Given the description of an element on the screen output the (x, y) to click on. 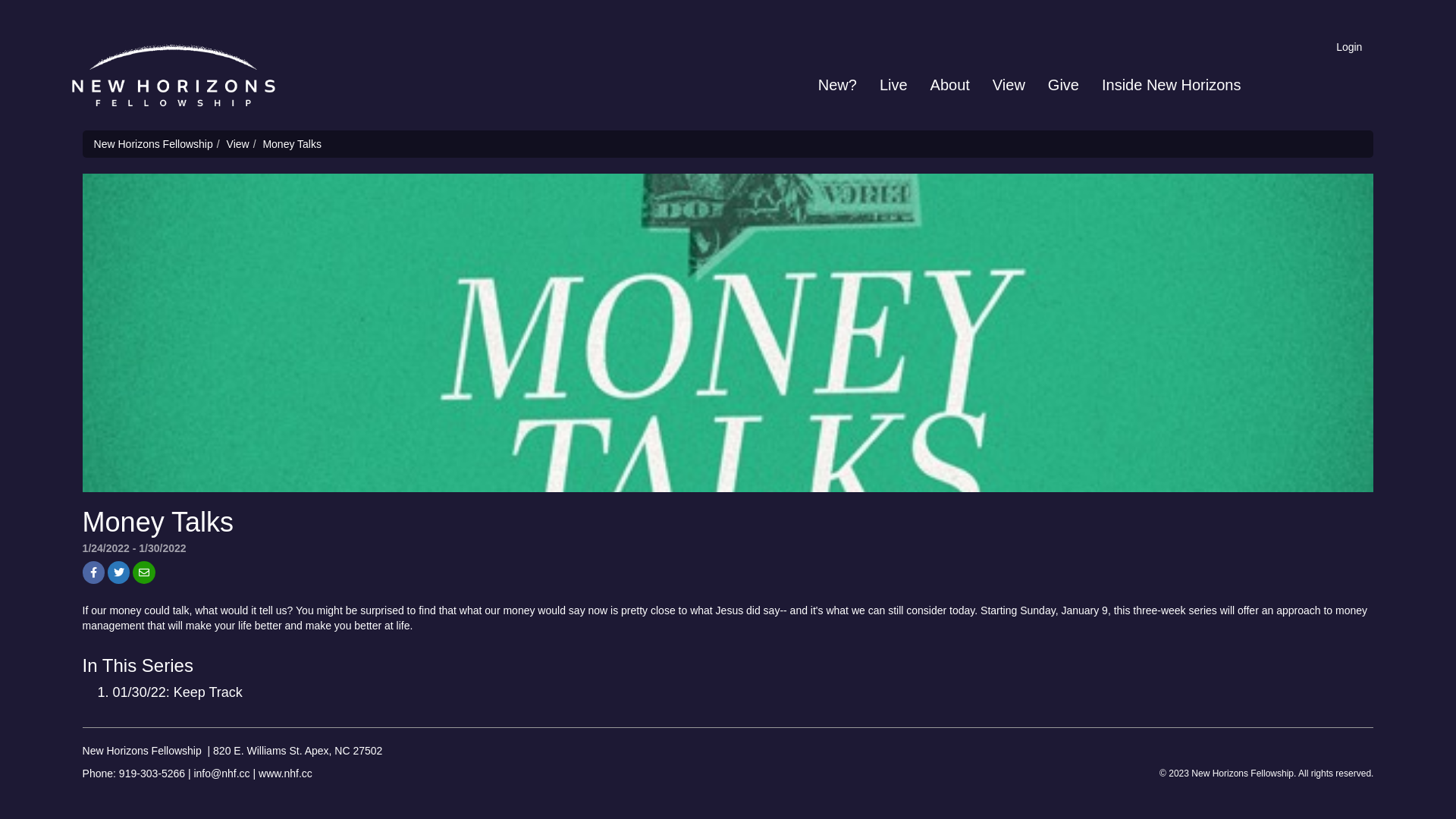
820 E. Williams St. Apex, NC 27502 Element type: text (297, 750)
New? Element type: text (837, 84)
Inside New Horizons Element type: text (1171, 84)
Login Element type: text (1312, 46)
View Element type: text (1008, 84)
About Element type: text (950, 84)
www.nhf.cc Element type: text (285, 773)
New Horizons Fellowship Element type: text (153, 144)
View Element type: text (237, 144)
01/30/22: Keep Track Element type: text (177, 691)
info@nhf.cc Element type: text (221, 773)
Live Element type: text (893, 84)
Give Element type: text (1063, 84)
